Given the description of an element on the screen output the (x, y) to click on. 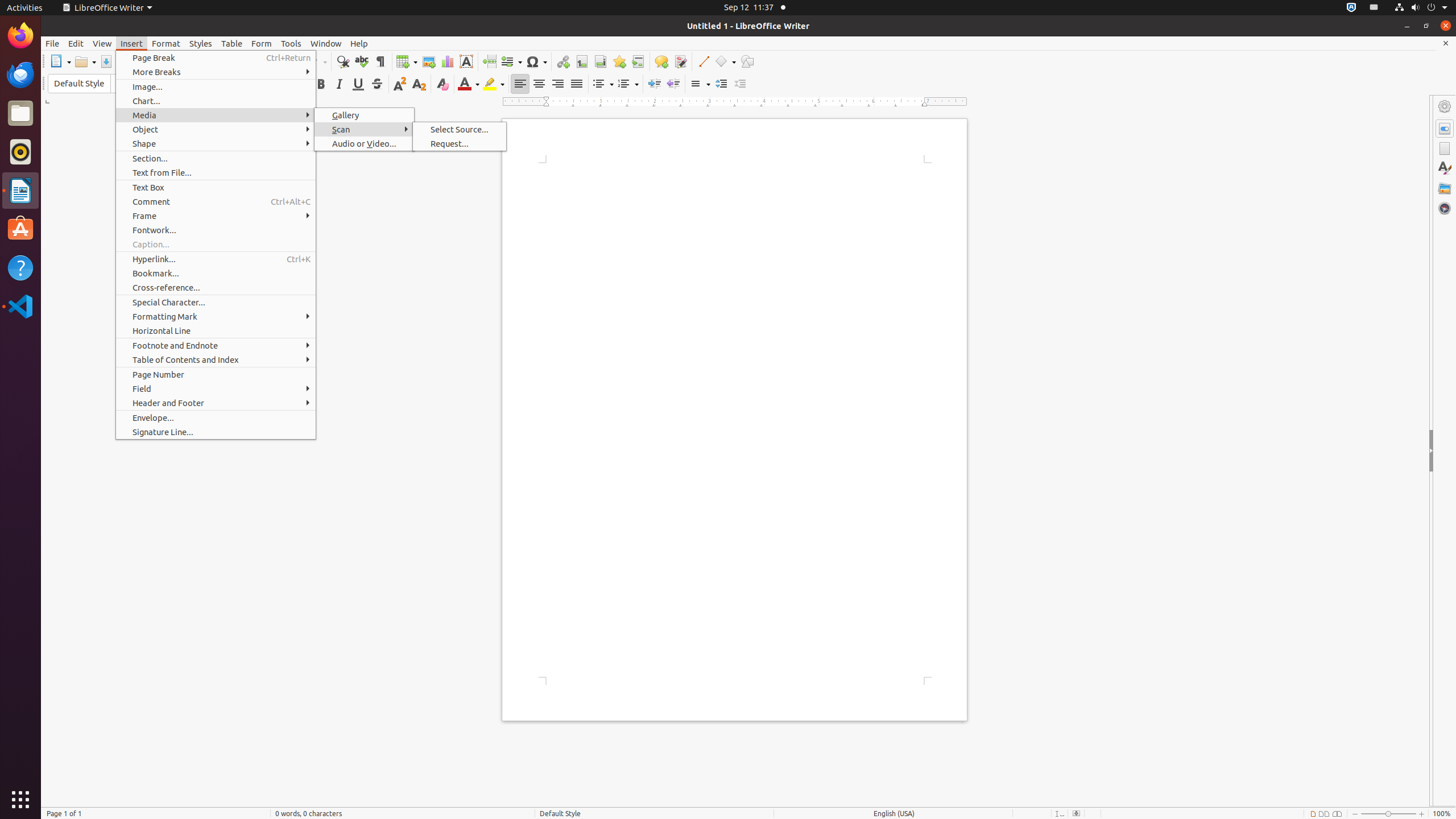
Rhythmbox Element type: push-button (20, 151)
Symbol Element type: push-button (535, 61)
Caption... Element type: menu-item (215, 244)
Comment Element type: push-button (660, 61)
:1.72/StatusNotifierItem Element type: menu (1350, 7)
